Given the description of an element on the screen output the (x, y) to click on. 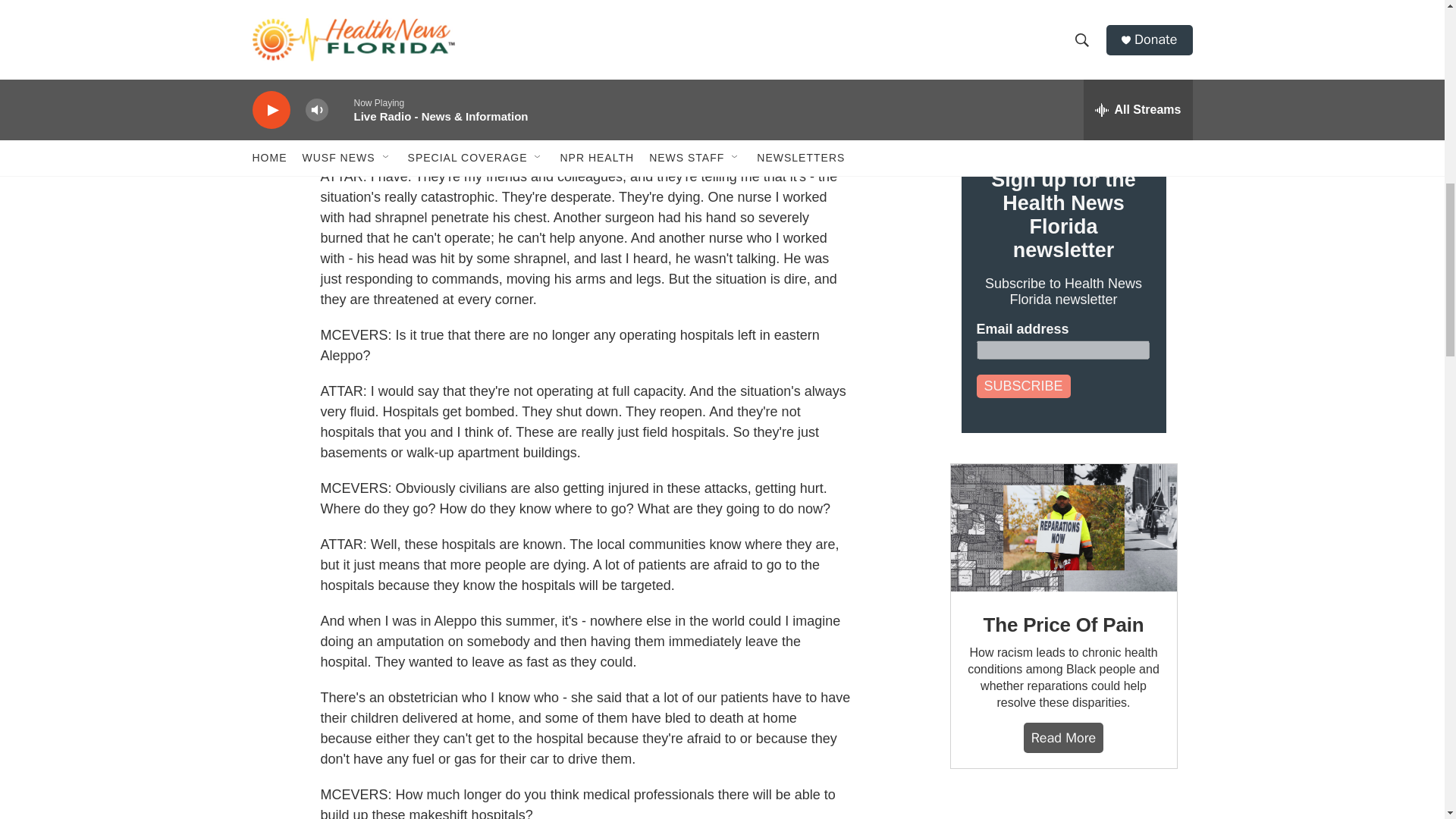
3rd party ad content (1062, 809)
